Given the description of an element on the screen output the (x, y) to click on. 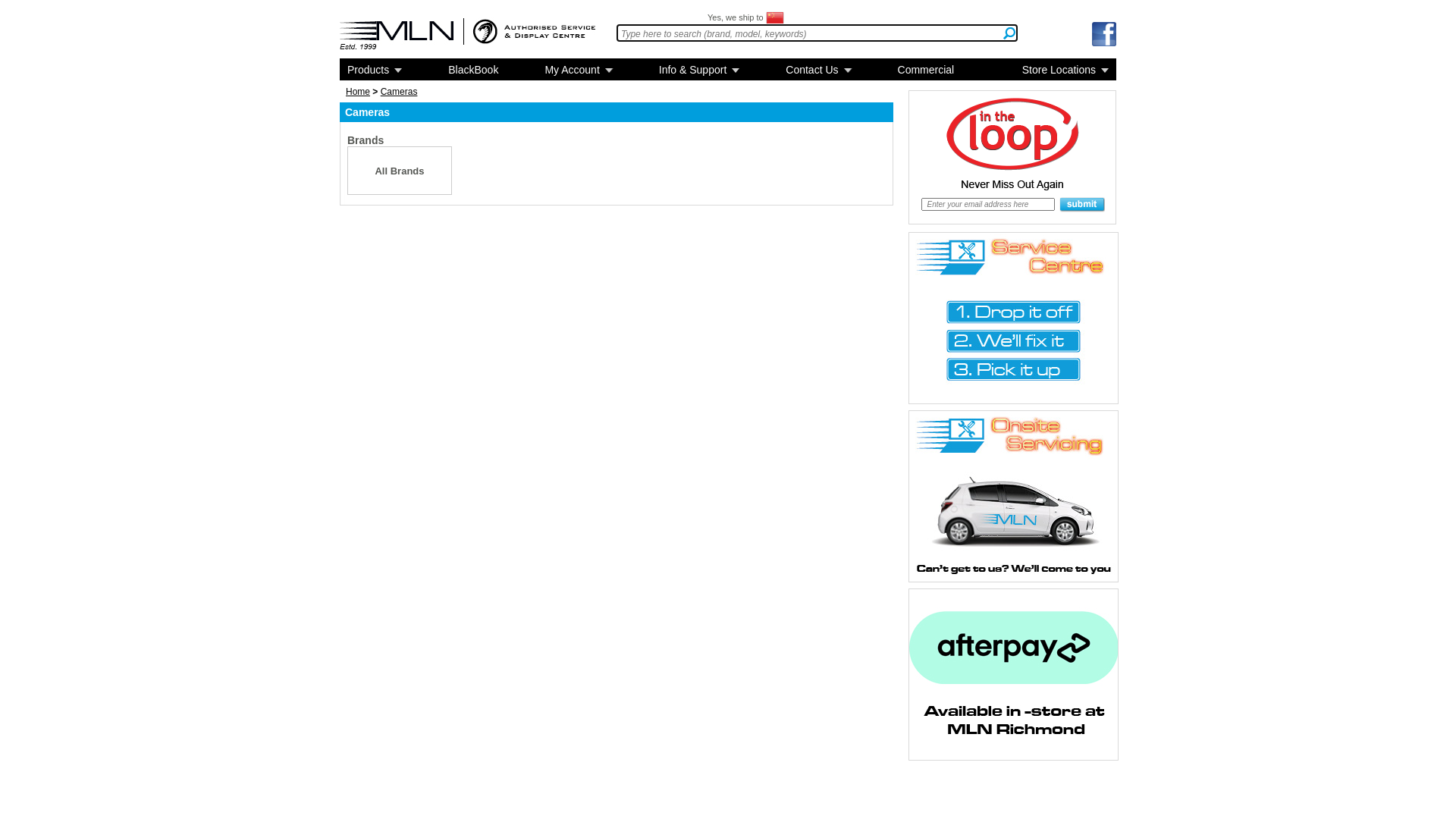
Newsletter Signup Element type: hover (987, 203)
My Account Element type: text (577, 69)
MLN Service Centre Element type: hover (1013, 318)
Type here to search (brand, model, keywords) Element type: text (816, 32)
MLN Onsite Servicing Element type: hover (1013, 496)
afterpay Element type: hover (1013, 674)
BlackBook Element type: text (472, 69)
Cameras Element type: hover (615, 128)
Enter your email address here Element type: text (987, 203)
Contact Us Element type: text (818, 69)
In The Loop Newsletter Element type: hover (1011, 164)
Products Element type: text (374, 69)
Commercial Element type: text (926, 69)
Sign Up Element type: hover (1081, 204)
Search Element type: hover (816, 32)
Info & Support Element type: text (699, 69)
Search Element type: hover (1009, 33)
MLN Home Page Element type: hover (396, 35)
Authorised Venom Service & Display Centre Element type: hover (534, 31)
Home Element type: text (357, 91)
Store Locations Element type: text (1065, 69)
Cameras Element type: text (398, 91)
